Given the description of an element on the screen output the (x, y) to click on. 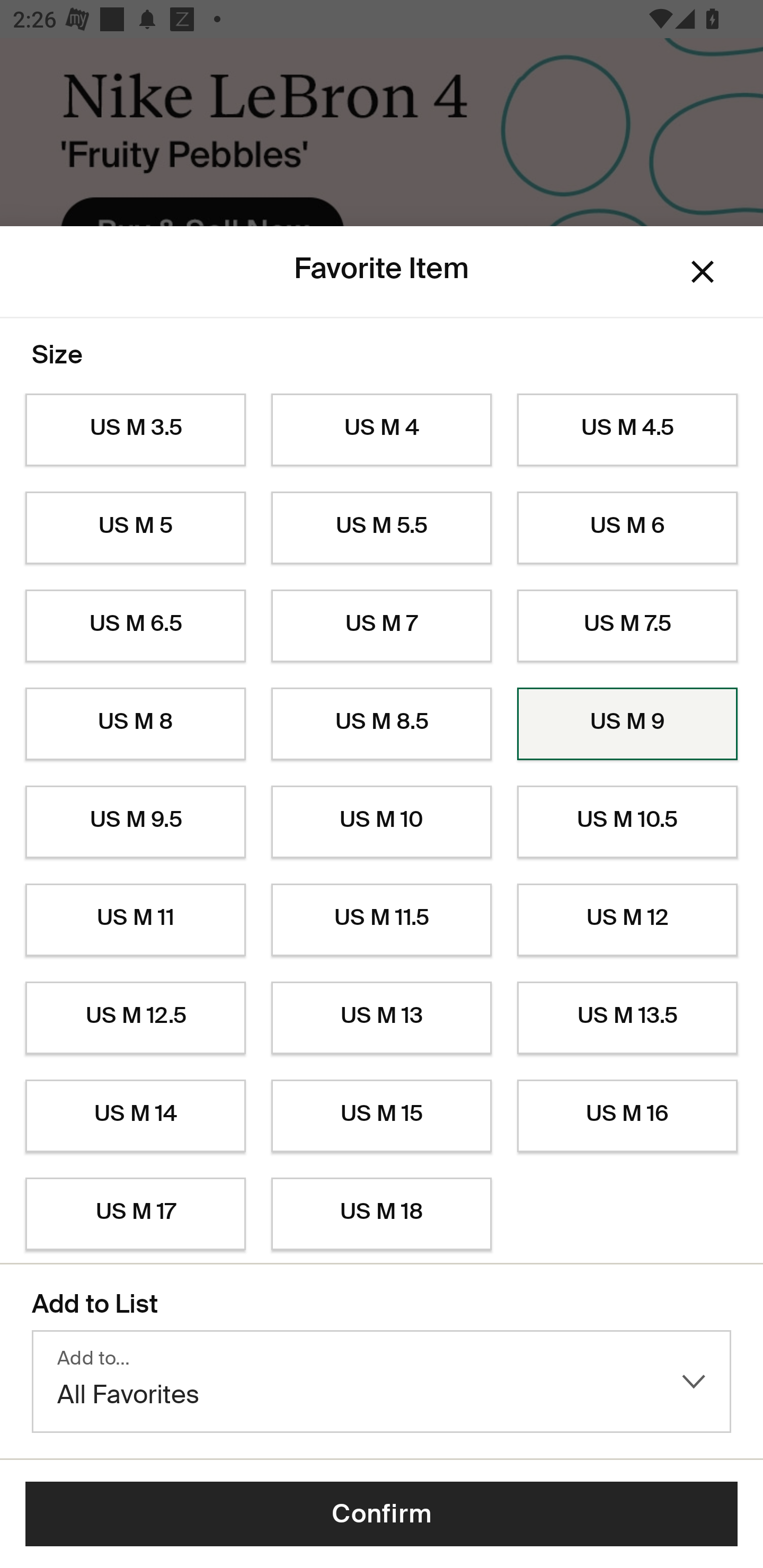
Dismiss (702, 271)
US M 3.5 (135, 430)
US M 4 (381, 430)
US M 4.5 (627, 430)
US M 5 (135, 527)
US M 5.5 (381, 527)
US M 6 (627, 527)
US M 6.5 (135, 626)
US M 7 (381, 626)
US M 7.5 (627, 626)
US M 8 (135, 724)
US M 8.5 (381, 724)
US M 9 (627, 724)
US M 9.5 (135, 822)
US M 10 (381, 822)
US M 10.5 (627, 822)
US M 11 (135, 919)
US M 11.5 (381, 919)
US M 12 (627, 919)
US M 12.5 (135, 1018)
US M 13 (381, 1018)
US M 13.5 (627, 1018)
US M 14 (135, 1116)
US M 15 (381, 1116)
US M 16 (627, 1116)
US M 17 (135, 1214)
US M 18 (381, 1214)
Add to… All Favorites (381, 1381)
Confirm (381, 1513)
